Given the description of an element on the screen output the (x, y) to click on. 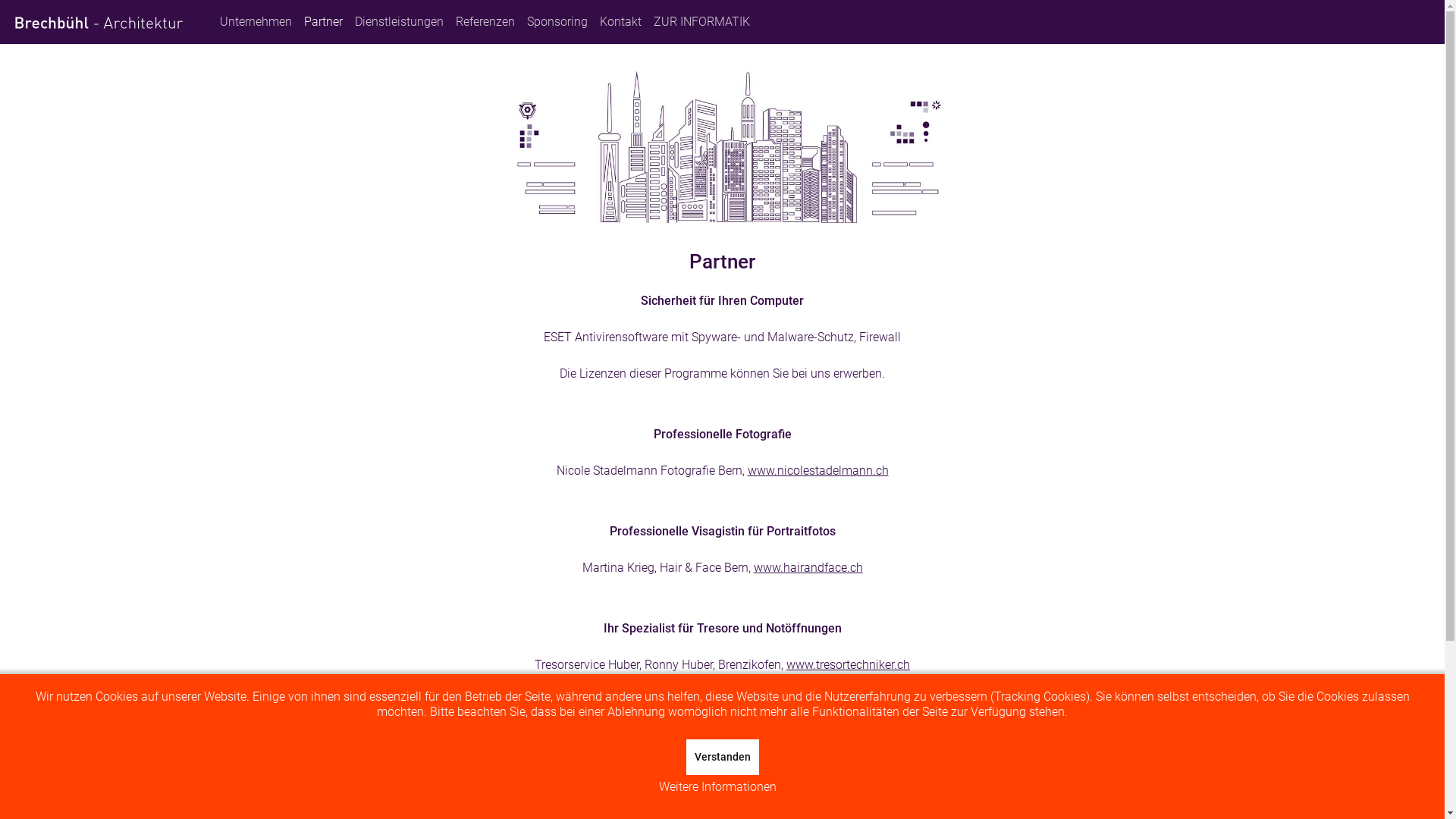
Sponsoring Element type: text (556, 21)
zur Architektur Element type: text (1134, 778)
Partner Element type: text (323, 21)
www.nicolestadelmann.ch Element type: text (817, 470)
Unternehmen Element type: text (255, 21)
Verstanden Element type: text (721, 757)
Dienstleistungen Element type: text (398, 21)
ZUR INFORMATIK Element type: text (701, 21)
zur Informatik Element type: text (1135, 808)
Referenzen Element type: text (484, 21)
Kontakt Element type: text (620, 21)
www.hairandface.ch Element type: text (807, 567)
www.tresortechniker.ch Element type: text (848, 664)
Weitere Informationen Element type: text (717, 787)
